Given the description of an element on the screen output the (x, y) to click on. 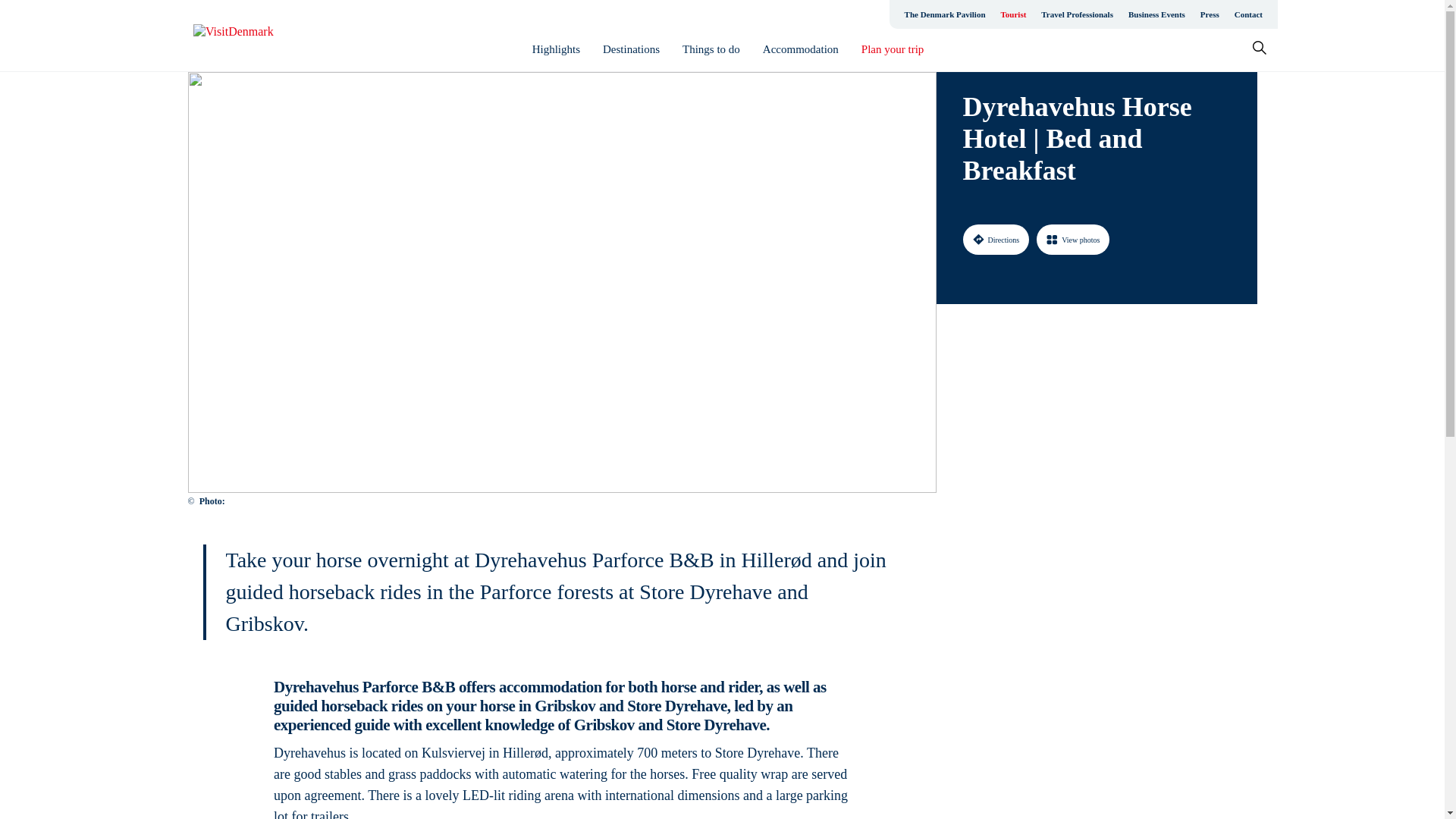
Business Events (1156, 14)
Contact (1248, 14)
The Denmark Pavilion (944, 14)
View photos (1072, 239)
Directions (995, 239)
Highlights (555, 49)
Press (1209, 14)
Go to homepage (253, 35)
Tourist (1012, 14)
Accommodation (800, 49)
Plan your trip (892, 49)
Travel Professionals (1077, 14)
Things to do (710, 49)
Destinations (630, 49)
